Given the description of an element on the screen output the (x, y) to click on. 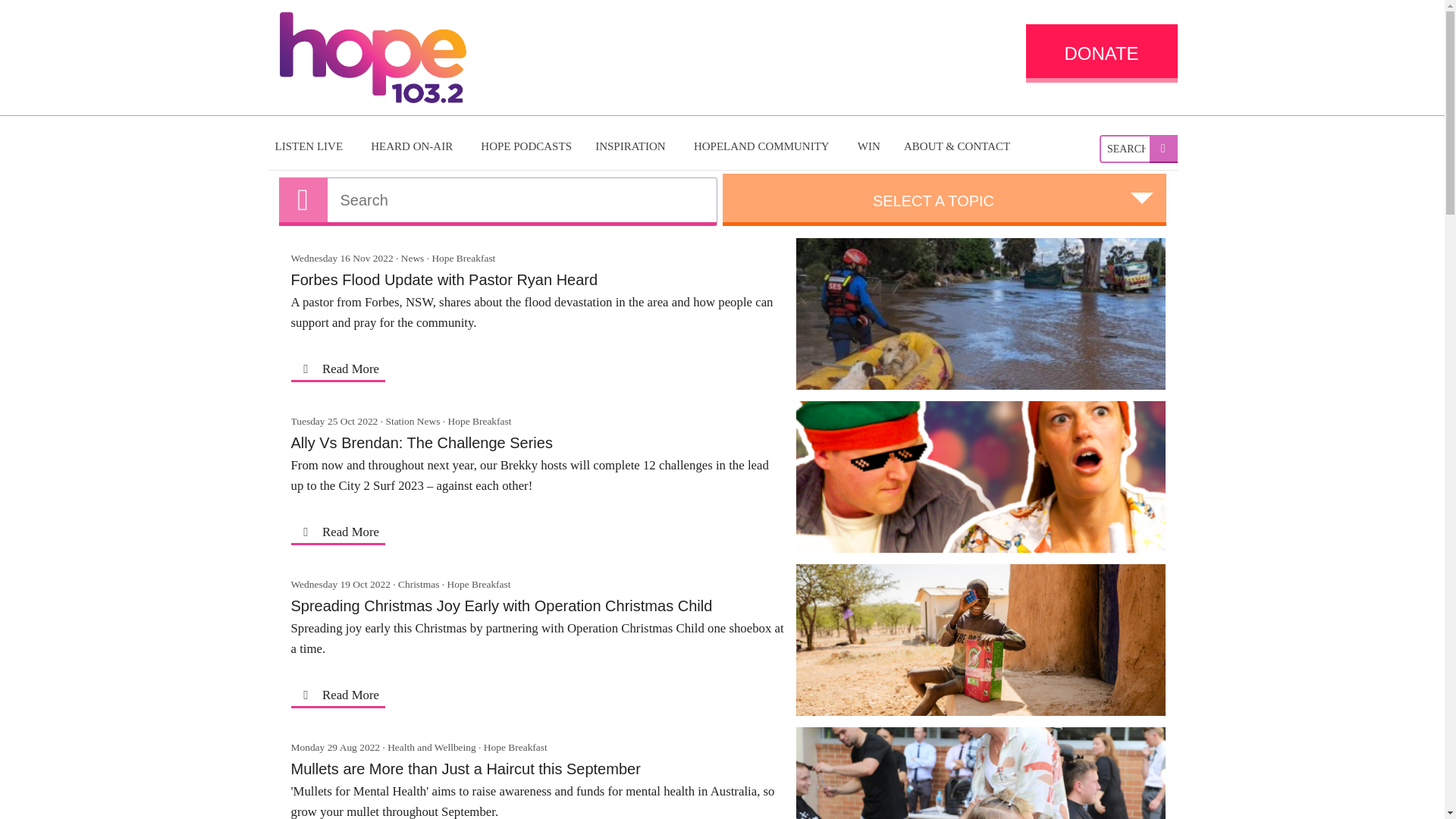
DONATE (1100, 53)
HEARD ON-AIR (413, 146)
LISTEN LIVE (310, 146)
HOPELAND COMMUNITY (763, 146)
HOPE PODCASTS (526, 146)
INSPIRATION (633, 146)
